Given the description of an element on the screen output the (x, y) to click on. 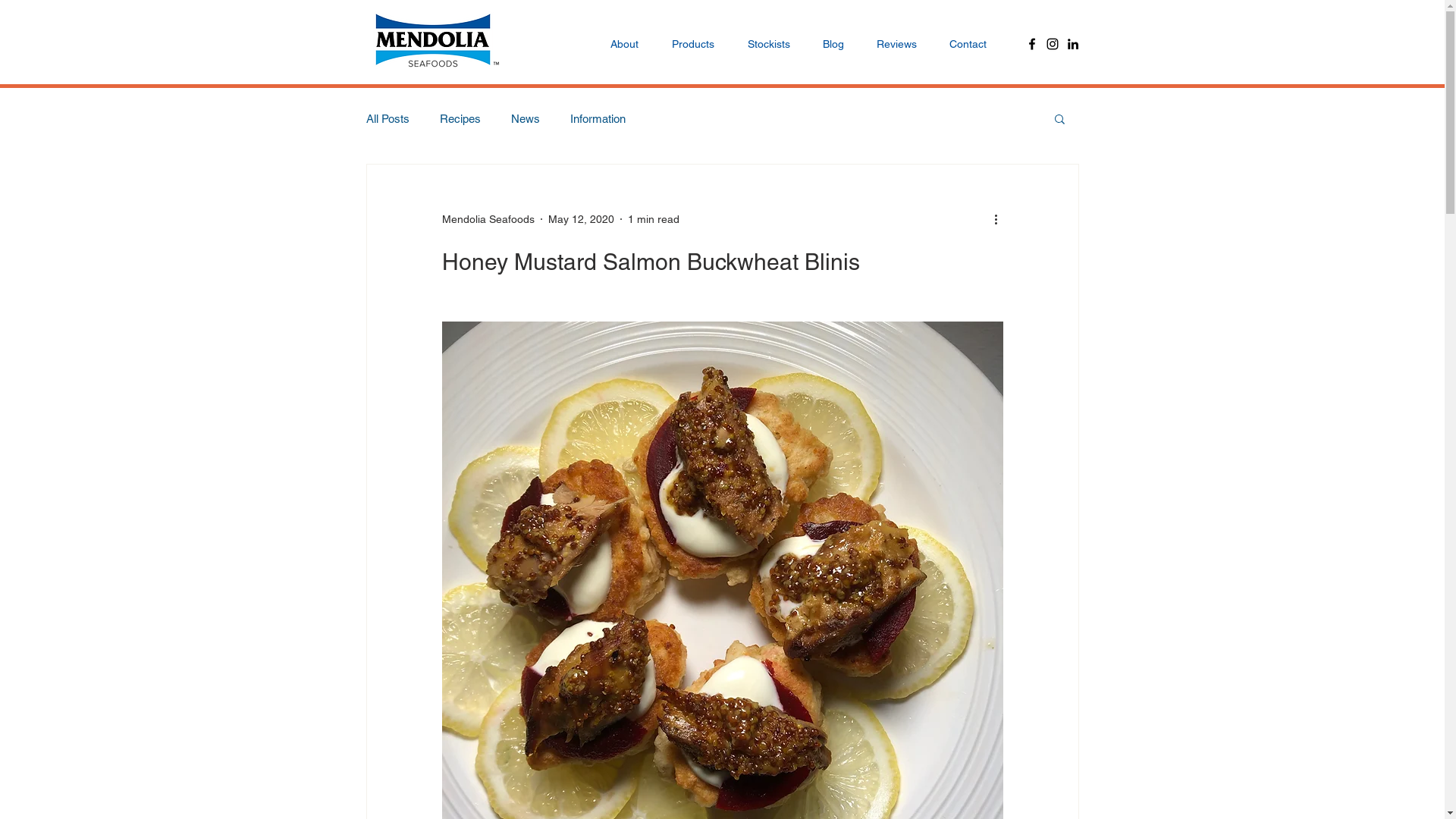
News Element type: text (525, 118)
All Posts Element type: text (386, 118)
Blog Element type: text (833, 43)
Contact Element type: text (967, 43)
Products Element type: text (693, 43)
Recipes Element type: text (459, 118)
Reviews Element type: text (895, 43)
About Element type: text (623, 43)
Information Element type: text (597, 118)
Stockists Element type: text (768, 43)
Mendolia Seafoods Element type: text (487, 218)
